Given the description of an element on the screen output the (x, y) to click on. 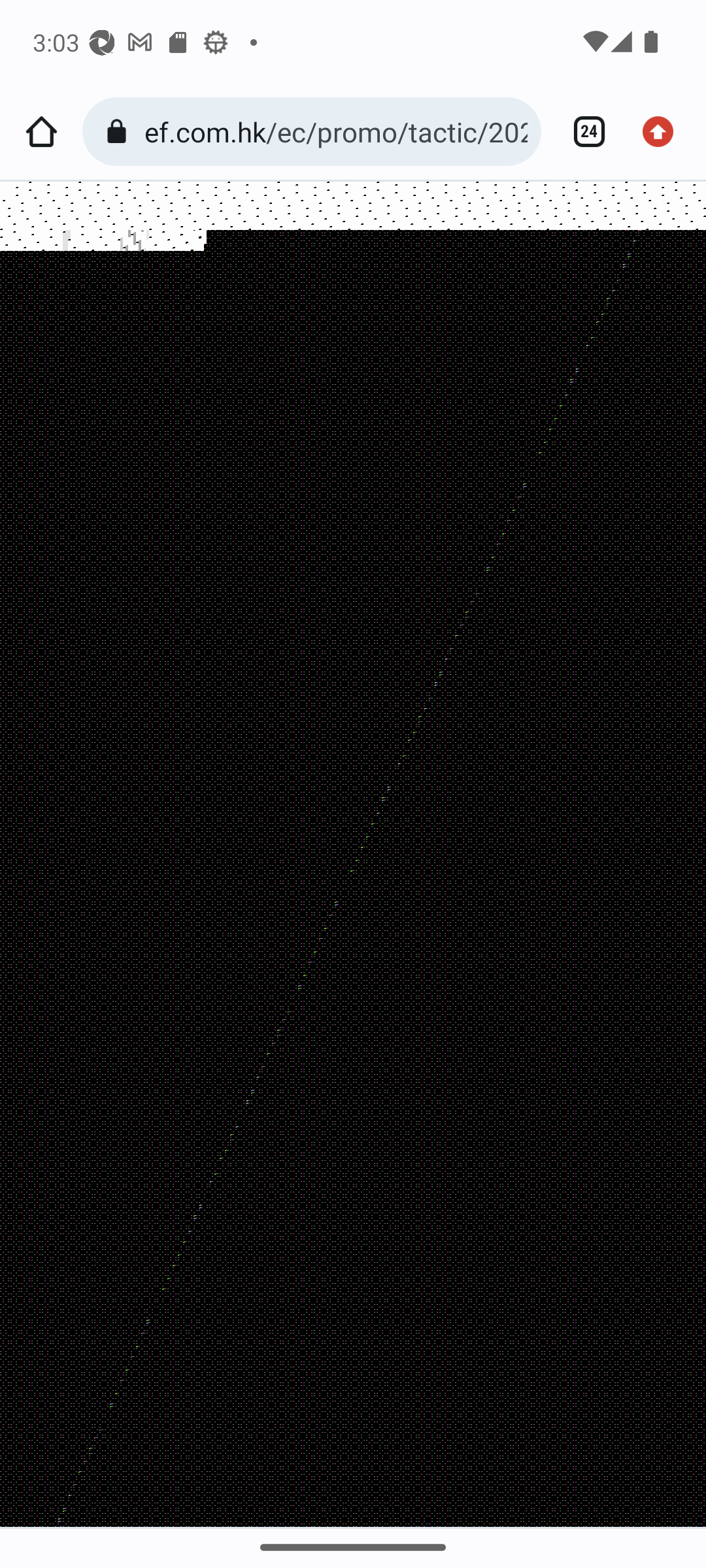
Home (41, 131)
Connection is secure (120, 131)
Switch or close tabs (582, 131)
Update available. More options (664, 131)
